Given the description of an element on the screen output the (x, y) to click on. 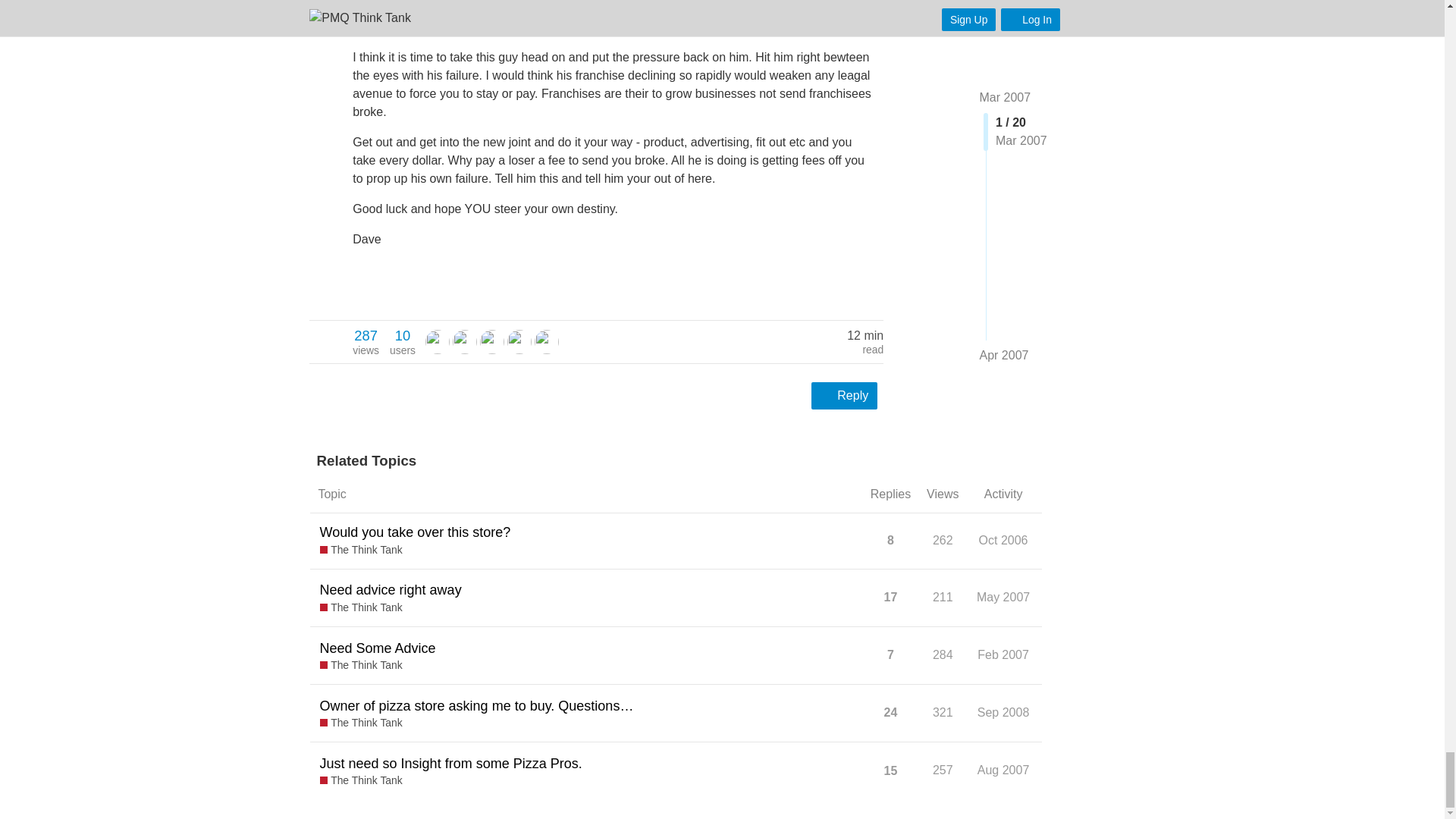
wa dave (464, 341)
pizzatime (546, 341)
NicksPizza (518, 341)
system (437, 341)
pizzatime (546, 341)
RobT (491, 341)
system (402, 341)
NicksPizza (366, 341)
RobT (437, 341)
